Given the description of an element on the screen output the (x, y) to click on. 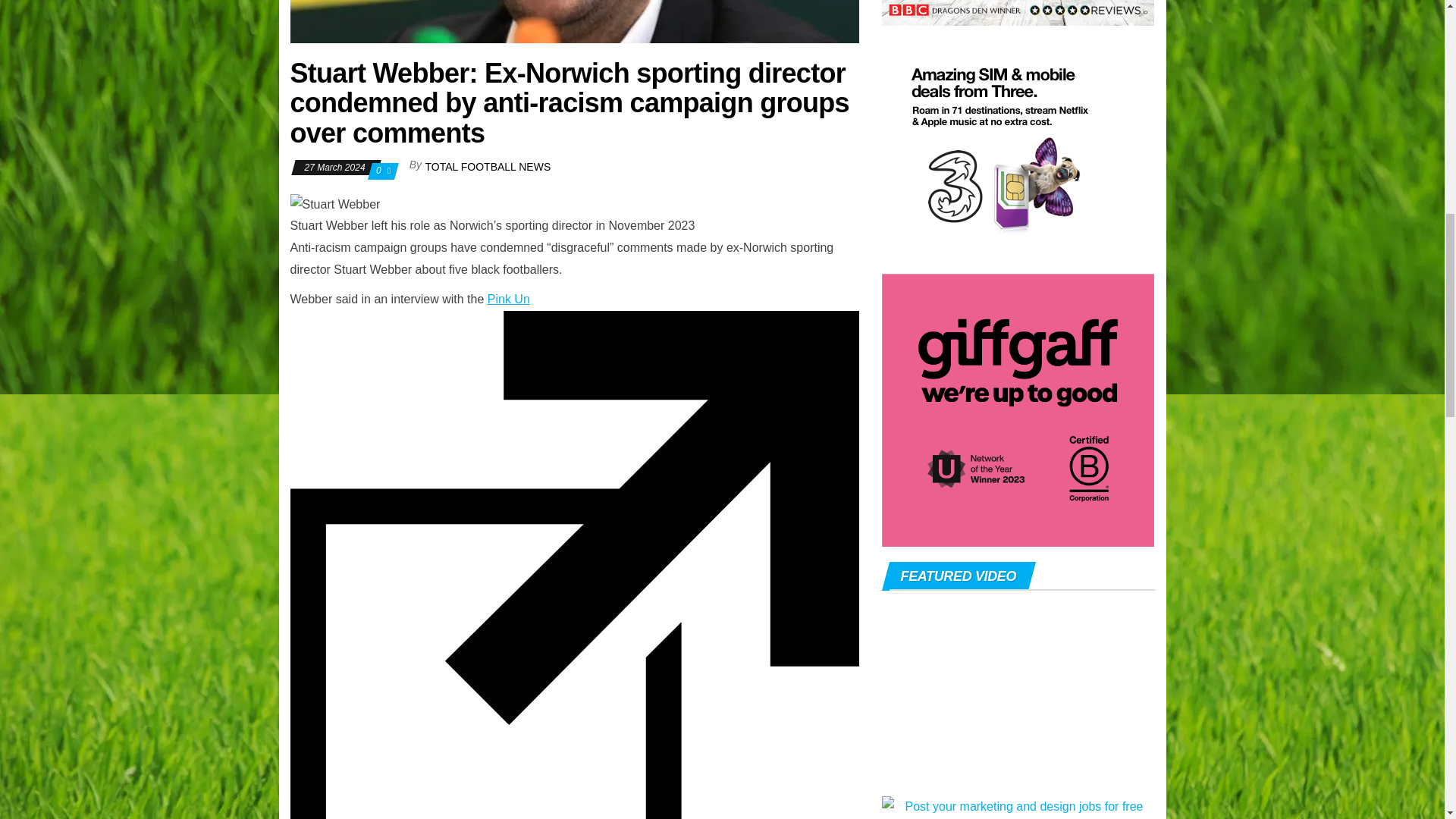
TOTAL FOOTBALL NEWS (488, 166)
